Given the description of an element on the screen output the (x, y) to click on. 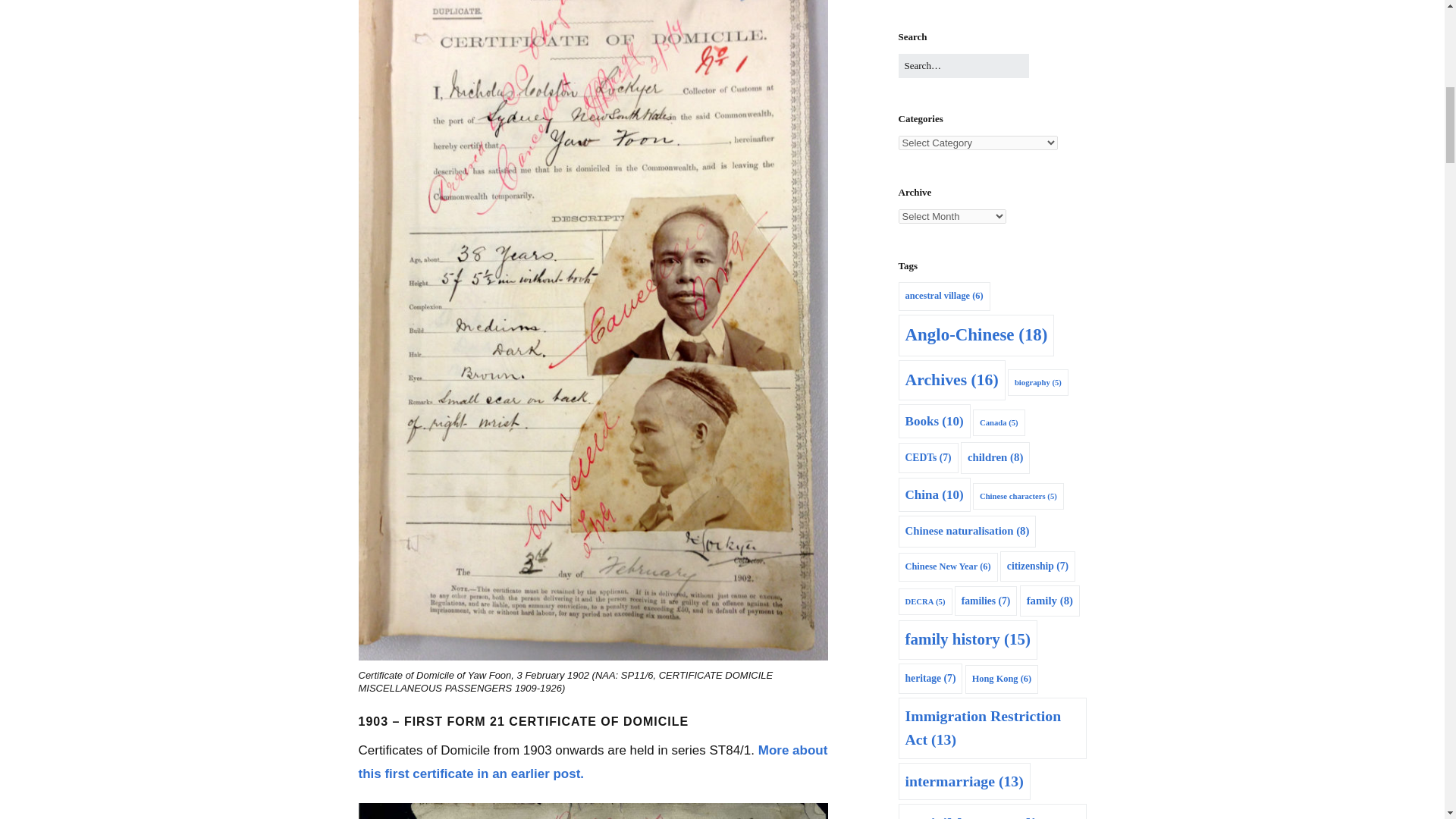
More about this first certificate in an earlier post. (592, 761)
Press Enter to submit your search (963, 66)
